Given the description of an element on the screen output the (x, y) to click on. 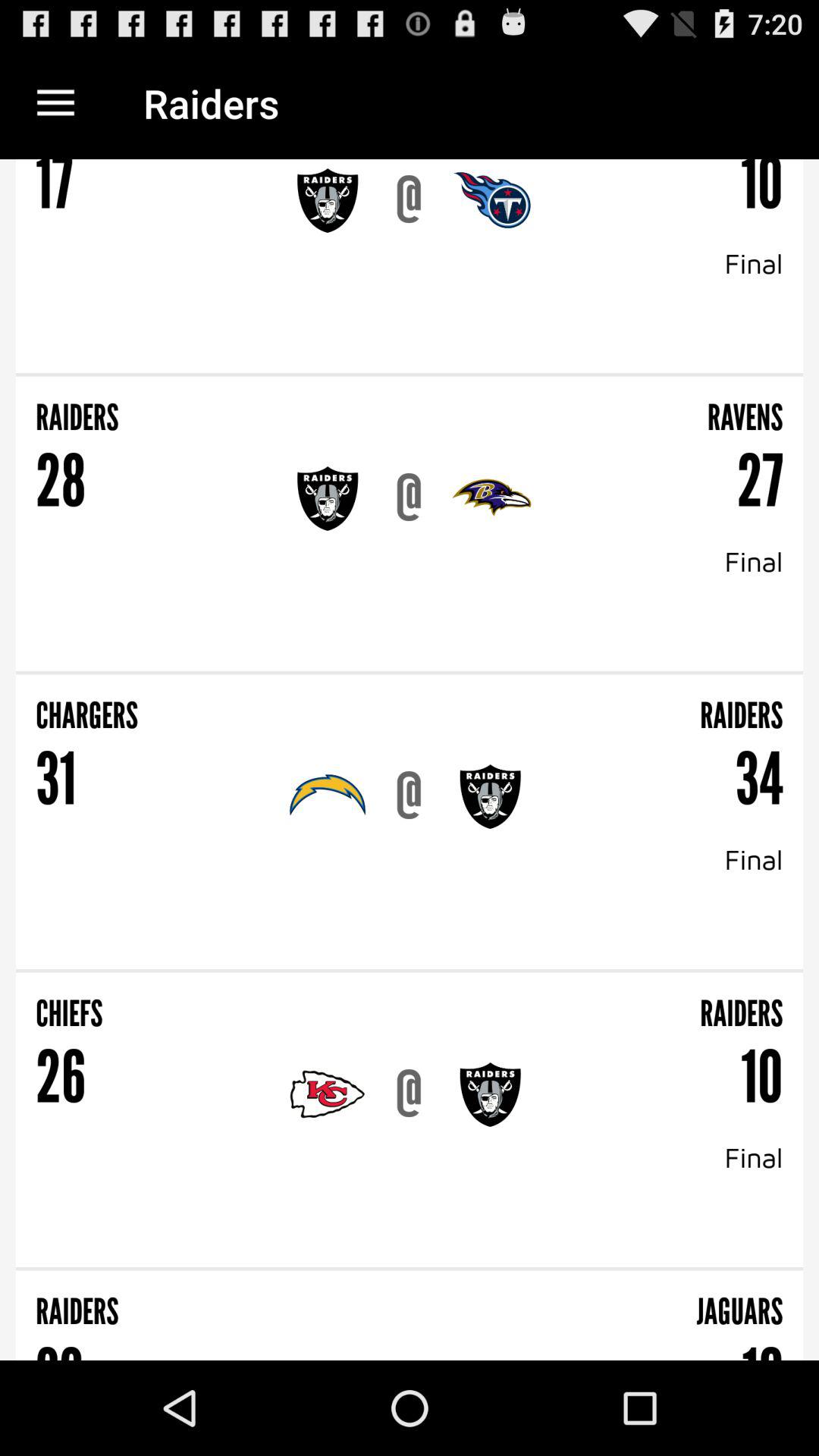
turn off the item above chiefs (409, 971)
